Given the description of an element on the screen output the (x, y) to click on. 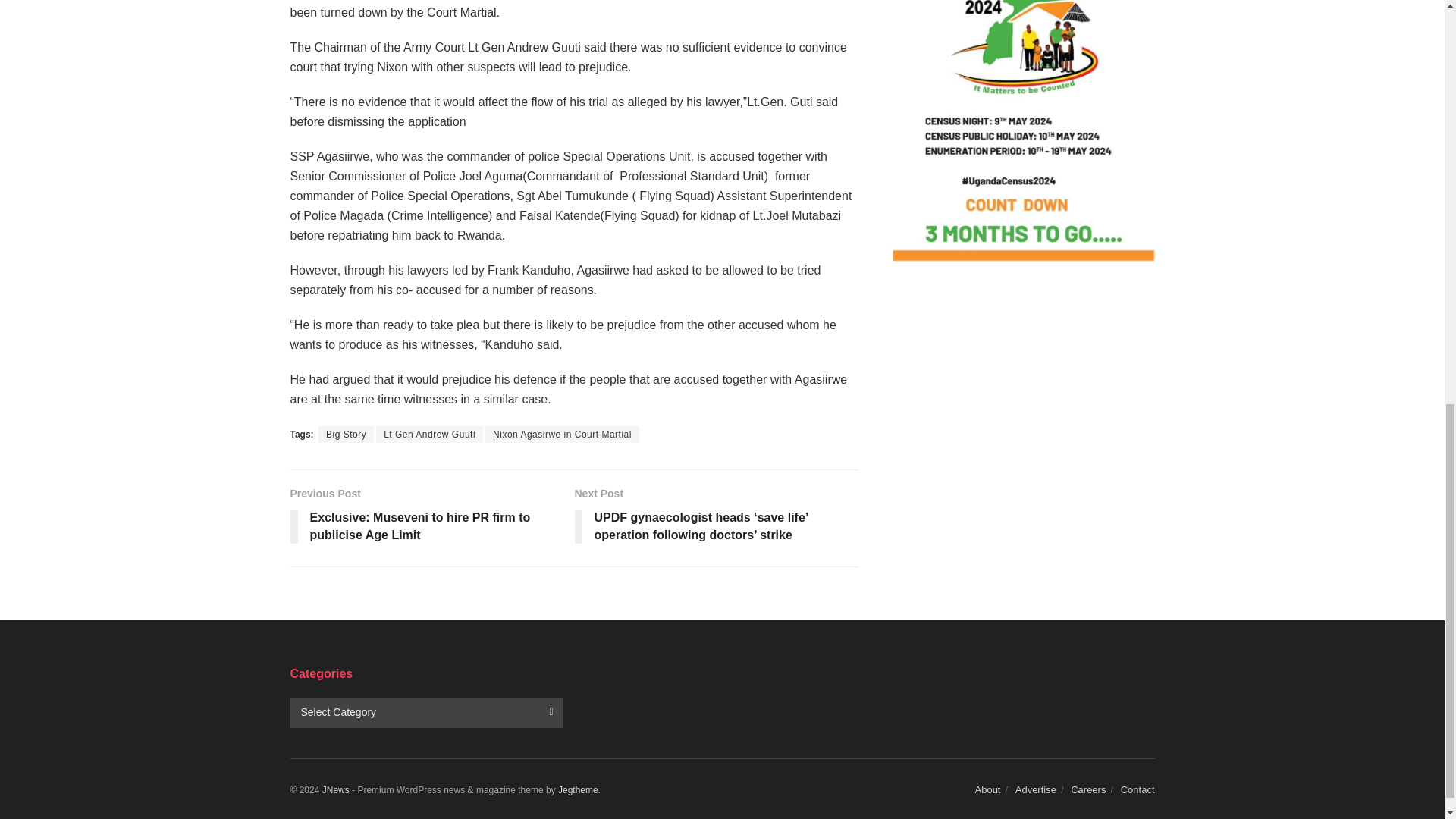
Jegtheme (577, 789)
